Given the description of an element on the screen output the (x, y) to click on. 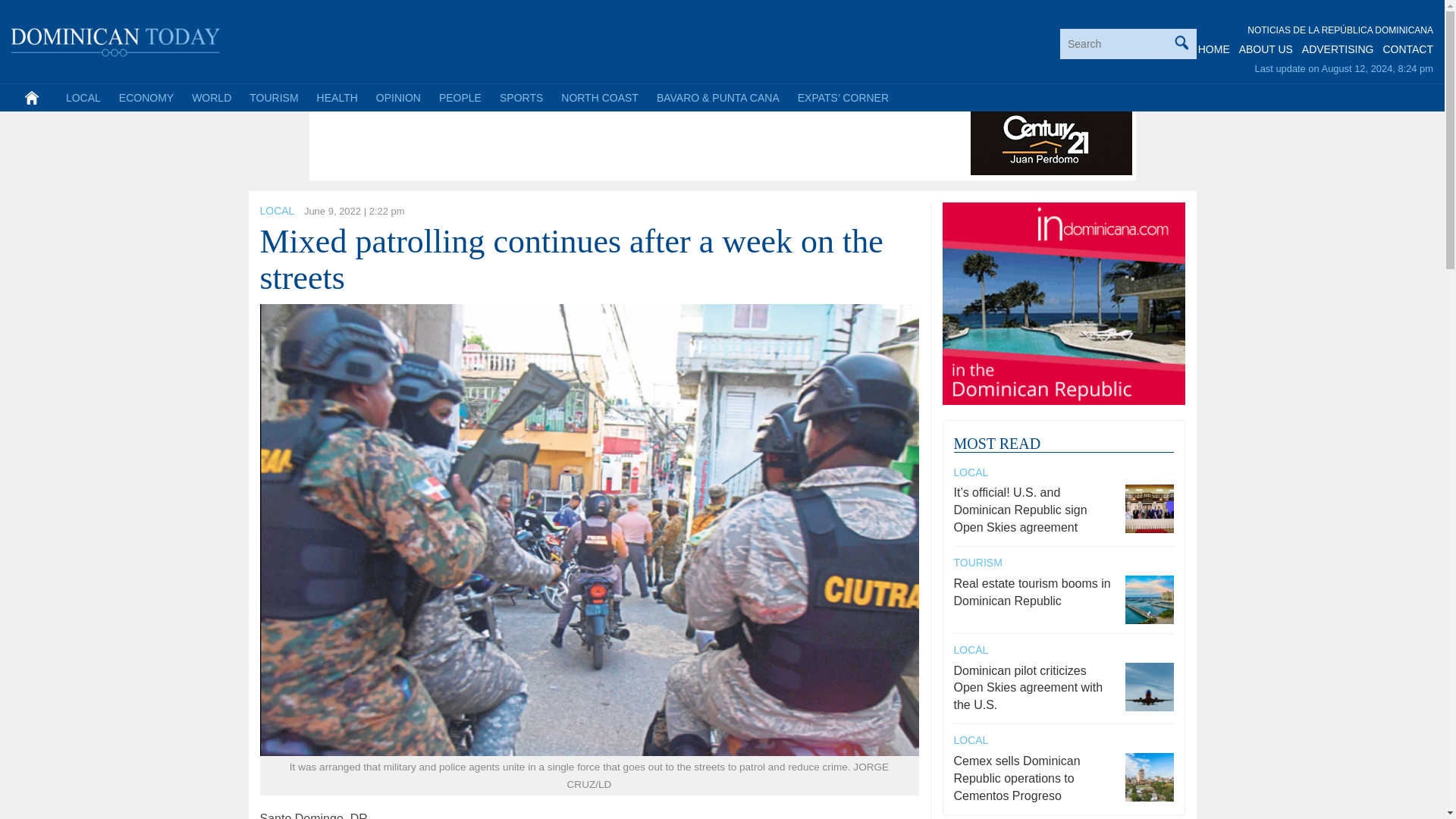
ECONOMY (146, 97)
HOME (1214, 49)
WORLD (211, 97)
OPINION (397, 97)
ABOUT US (1265, 49)
TOURISM (273, 97)
HEALTH (336, 97)
SPORTS (520, 97)
PEOPLE (459, 97)
